Given the description of an element on the screen output the (x, y) to click on. 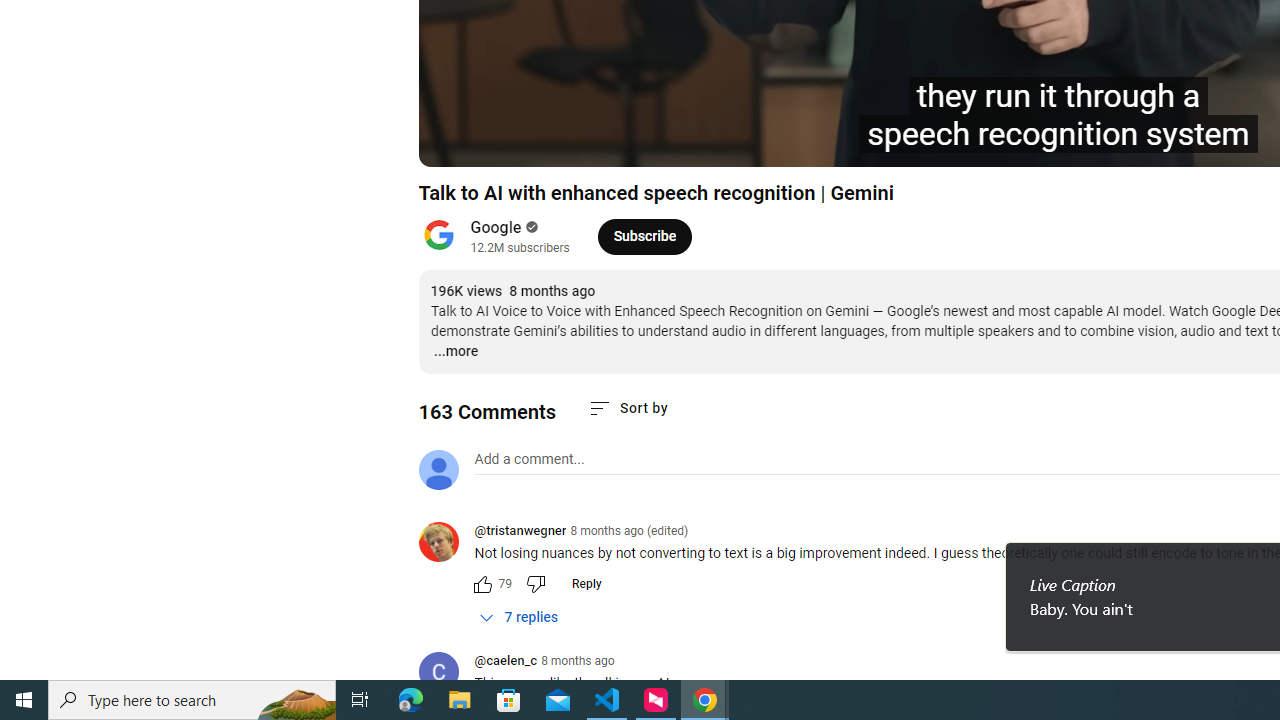
8 months ago (edited) (628, 531)
7 replies (518, 617)
@tristanwegner (520, 532)
@caelen_c (505, 661)
Verified (530, 227)
Subscribe to Google. (644, 236)
AutomationID: simplebox-placeholder (528, 459)
Reply (586, 583)
...more (454, 352)
Next (SHIFT+n) (546, 142)
@tristanwegner (446, 543)
8 months ago (577, 661)
Mute (m) (594, 142)
